Given the description of an element on the screen output the (x, y) to click on. 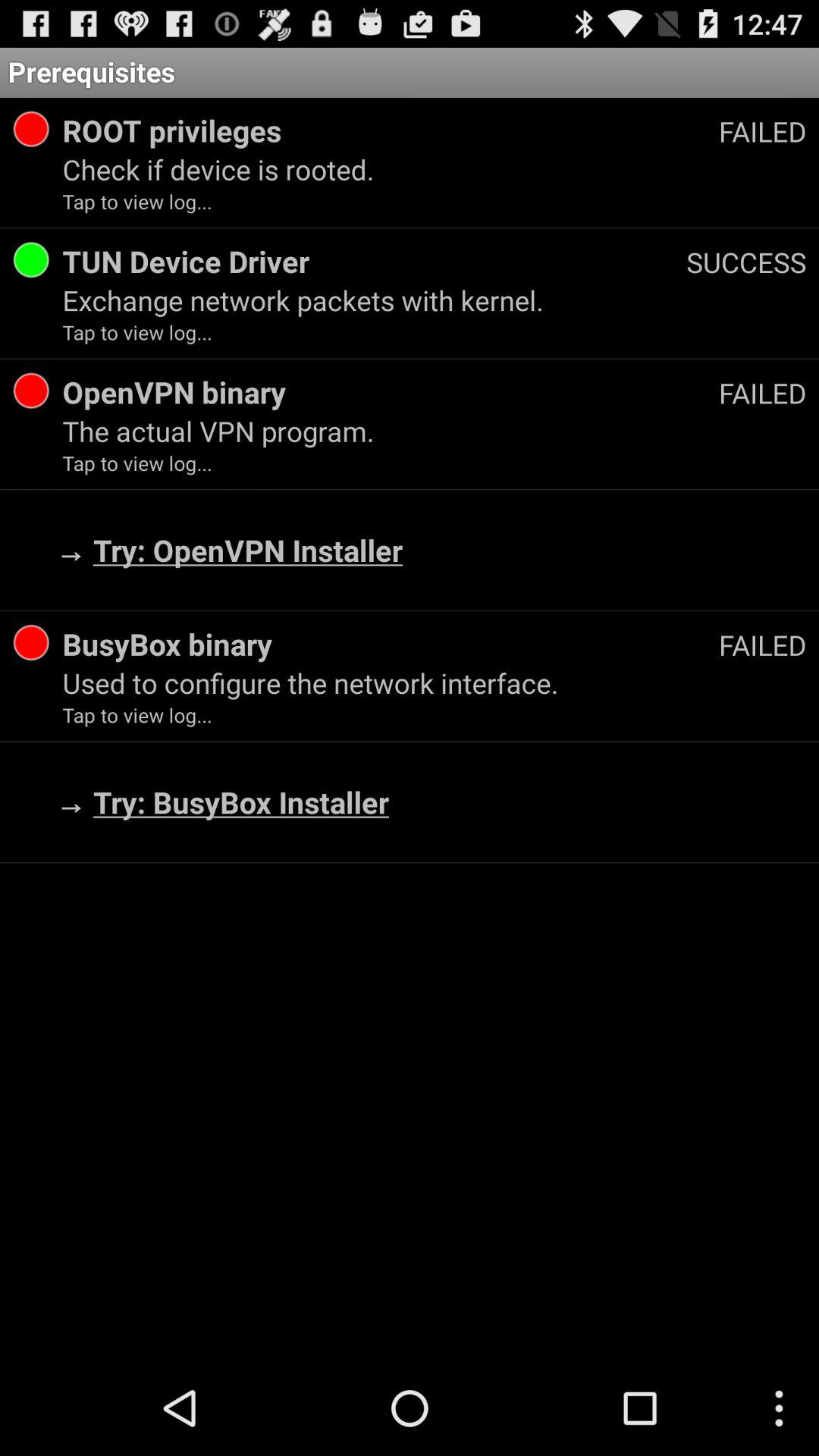
open app next to the failed app (390, 643)
